Given the description of an element on the screen output the (x, y) to click on. 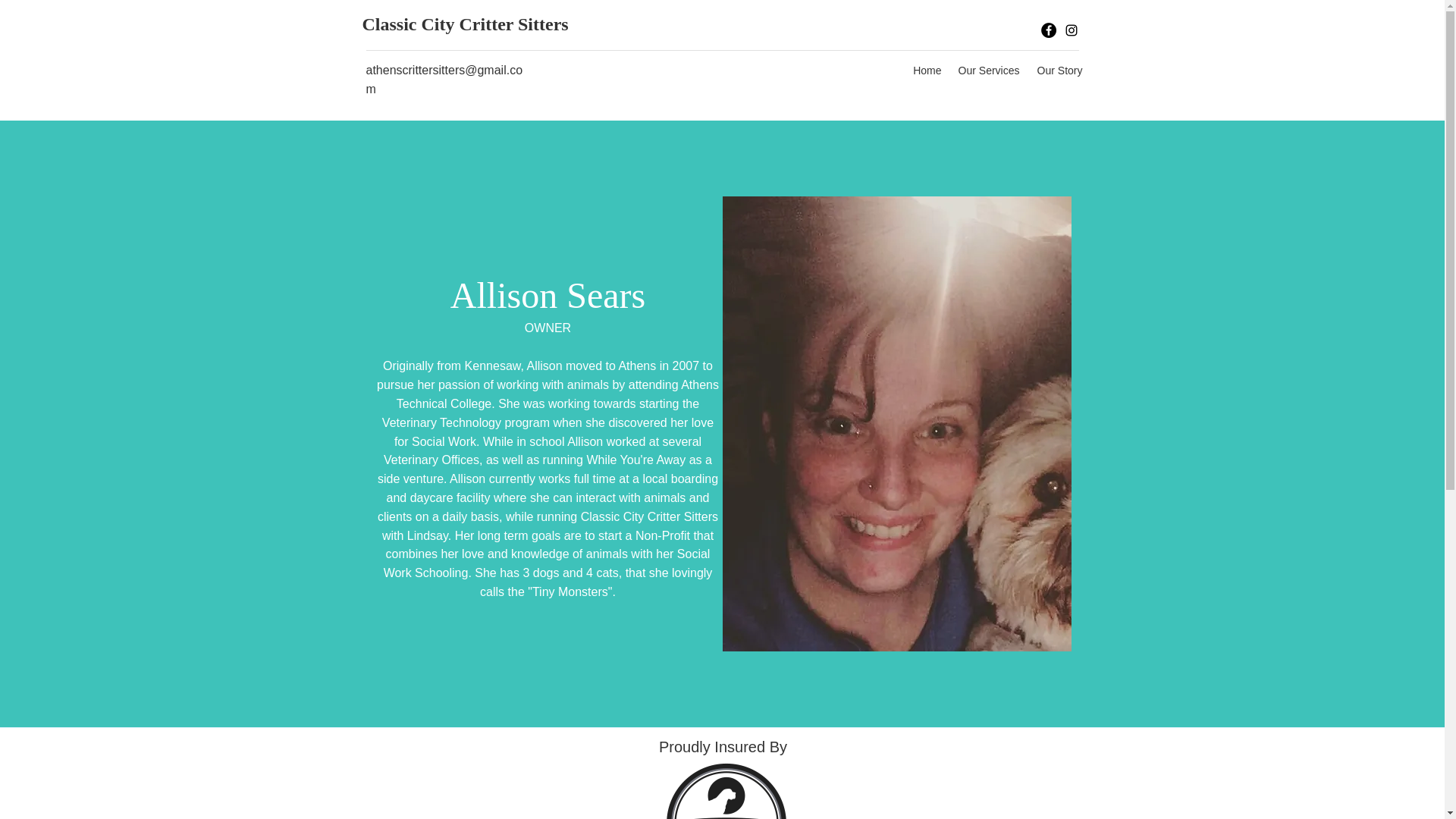
Home (926, 69)
Our Story (1057, 69)
Our Services (988, 69)
